Given the description of an element on the screen output the (x, y) to click on. 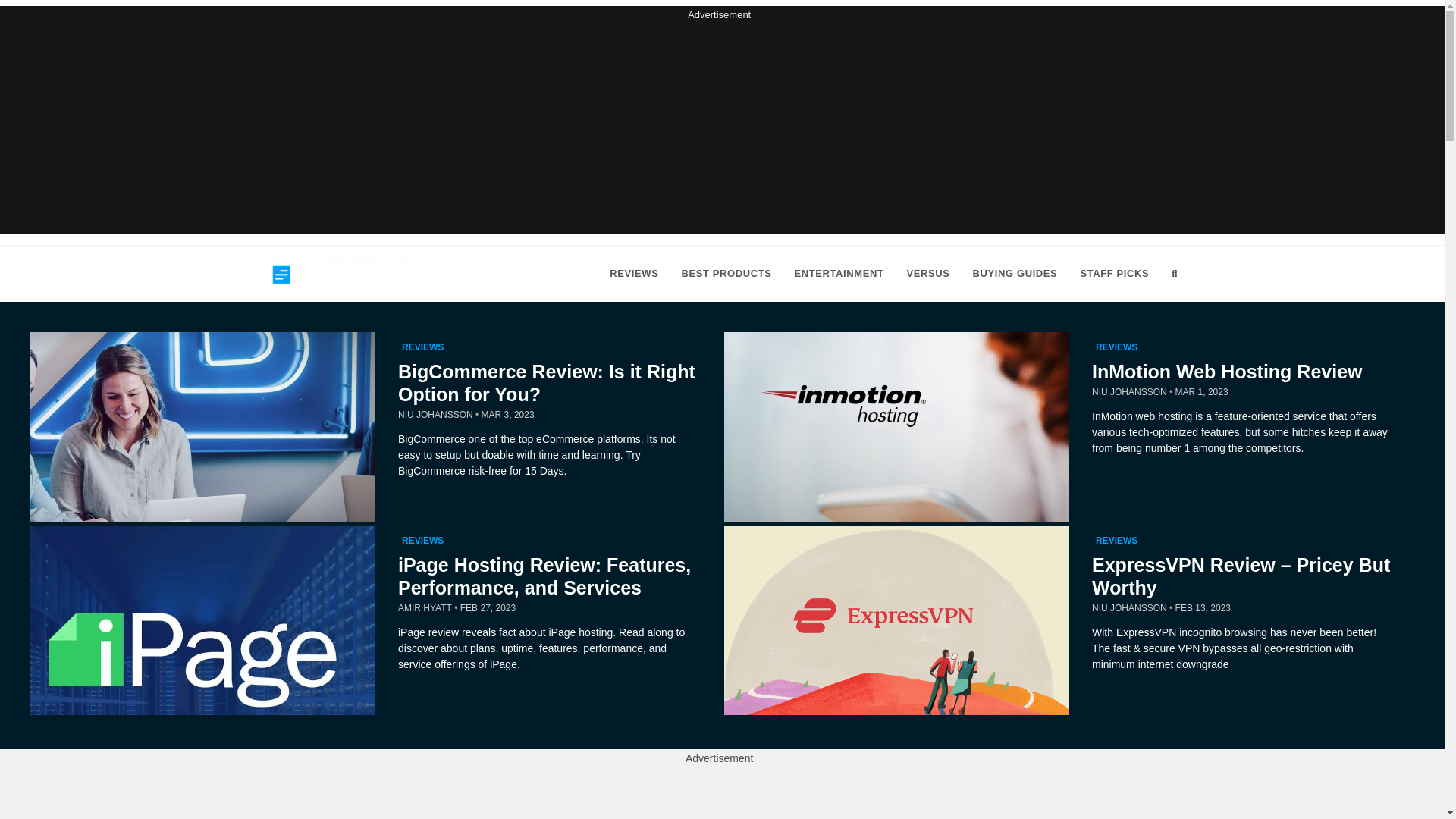
BigCommerce Review: Is it Right Option for You? (546, 382)
REVIEWS (421, 347)
InMotion Web Hosting Review (1226, 371)
VERSUS (927, 273)
REVIEWS (1116, 541)
REVIEWS (421, 541)
Posts by Niu Johansson (1129, 391)
AMIR HYATT (424, 607)
REVIEWS (633, 273)
BEST PRODUCTS (726, 273)
